Given the description of an element on the screen output the (x, y) to click on. 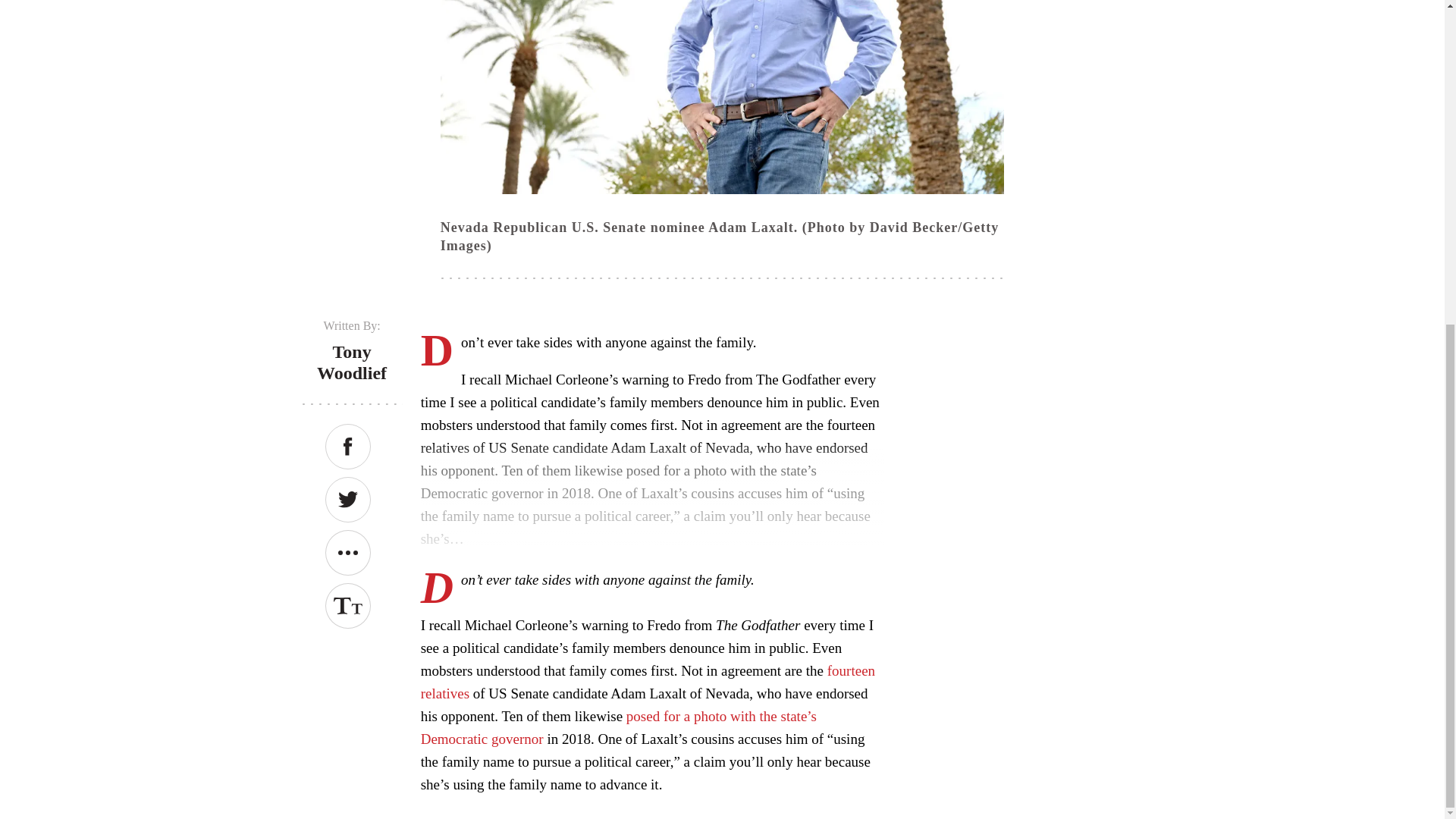
fourteen relatives (647, 681)
Tony Woodlief (352, 362)
